Given the description of an element on the screen output the (x, y) to click on. 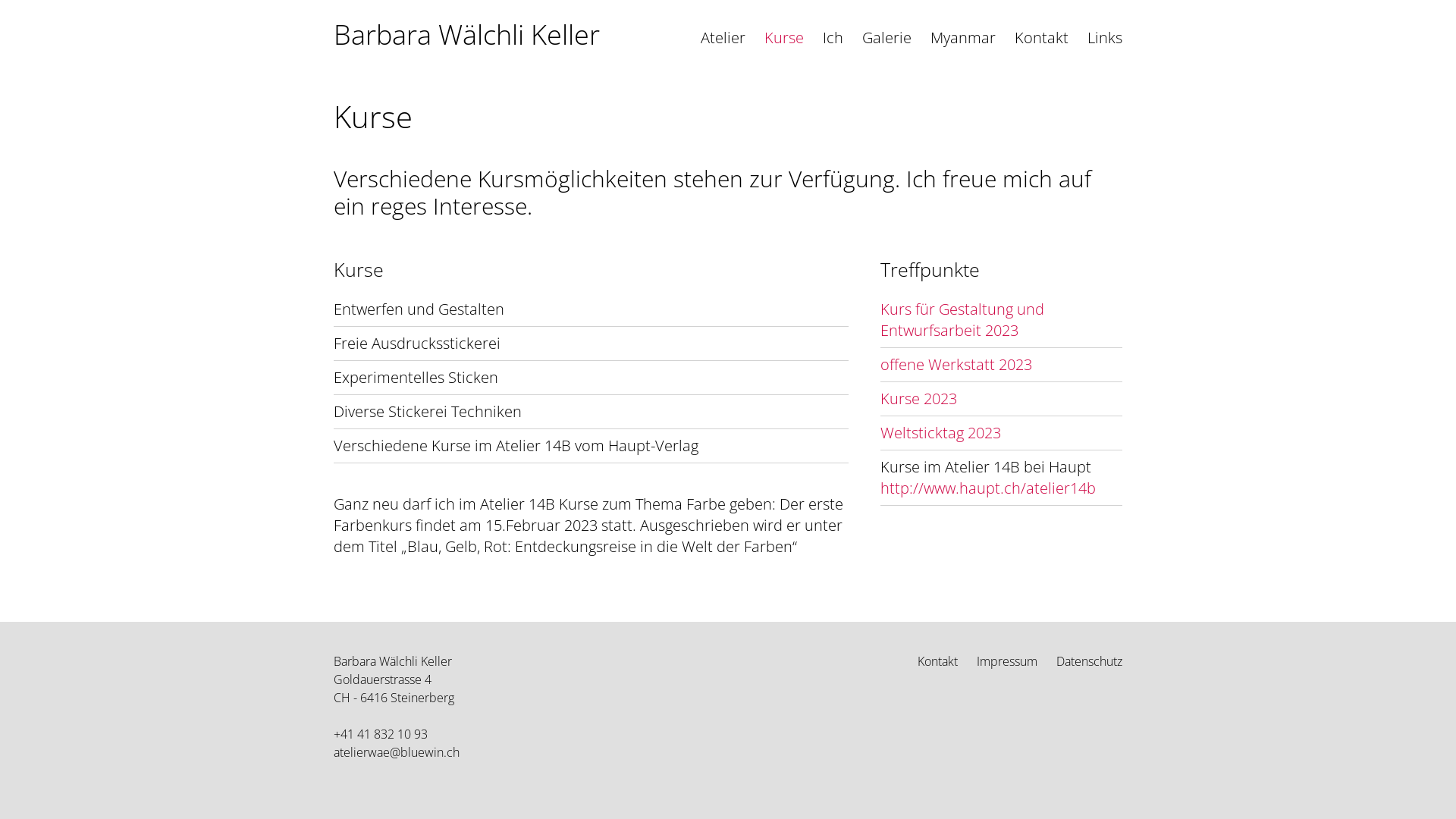
Datenschutz Element type: text (1089, 661)
atelierwae@bluewin.ch Element type: text (396, 751)
Galerie Element type: text (886, 48)
Kurse 2023 Element type: text (918, 398)
Kurse Element type: text (783, 48)
http://www.haupt.ch/atelier14b Element type: text (987, 487)
Links Element type: text (1104, 48)
Kontakt Element type: text (1041, 48)
Atelier Element type: text (722, 48)
Myanmar Element type: text (962, 48)
Kontakt Element type: text (937, 661)
Ich Element type: text (832, 48)
Impressum Element type: text (1006, 661)
offene Werkstatt 2023 Element type: text (956, 364)
Weltsticktag 2023 Element type: text (940, 432)
